Given the description of an element on the screen output the (x, y) to click on. 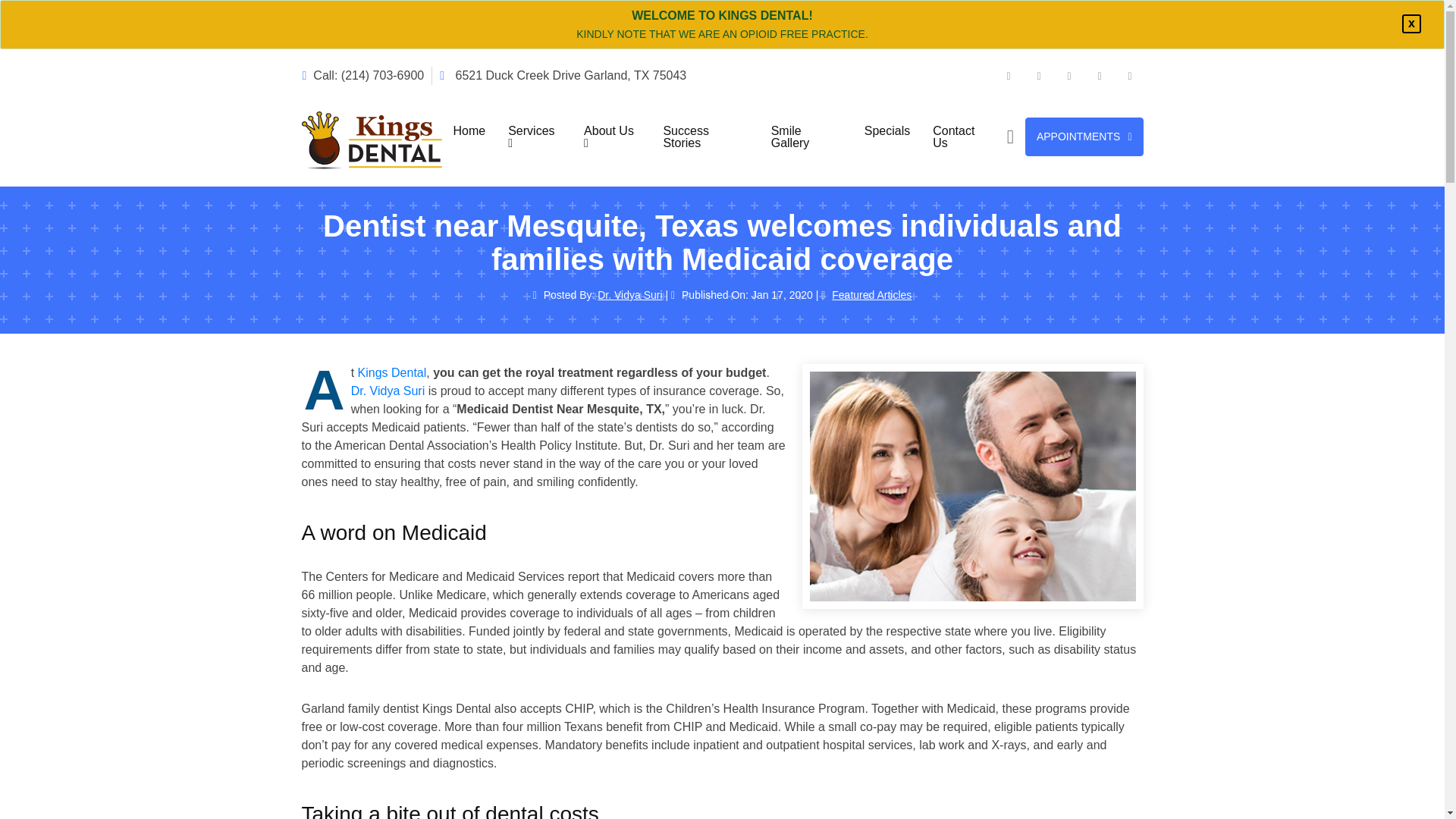
Twitter (1038, 75)
Services (534, 137)
Success Stories (704, 137)
Smile Gallery (806, 137)
About Us (611, 137)
Facebook (1008, 75)
Instagram (1129, 75)
Google (1099, 75)
Pinterest (1068, 75)
6521 Duck Creek Drive Garland, TX 75043 (562, 74)
